Given the description of an element on the screen output the (x, y) to click on. 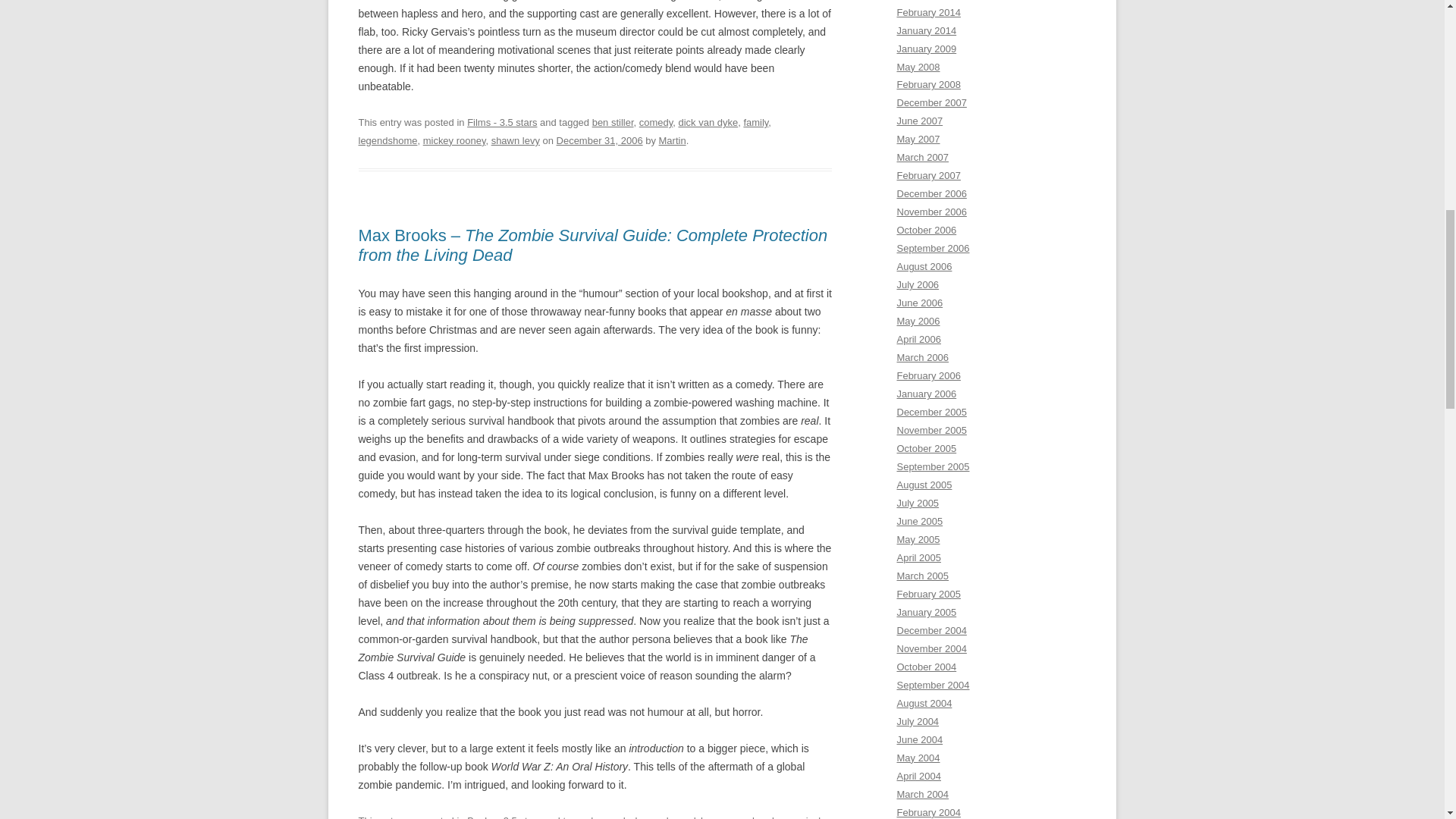
comedy (612, 816)
Films - 3.5 stars (502, 122)
Books - 3.5 stars (503, 816)
Martin (672, 140)
max brooks (755, 816)
legendshome (387, 140)
10:19 pm (599, 140)
legendshome (695, 816)
View all posts by Martin (672, 140)
December 31, 2006 (599, 140)
